Given the description of an element on the screen output the (x, y) to click on. 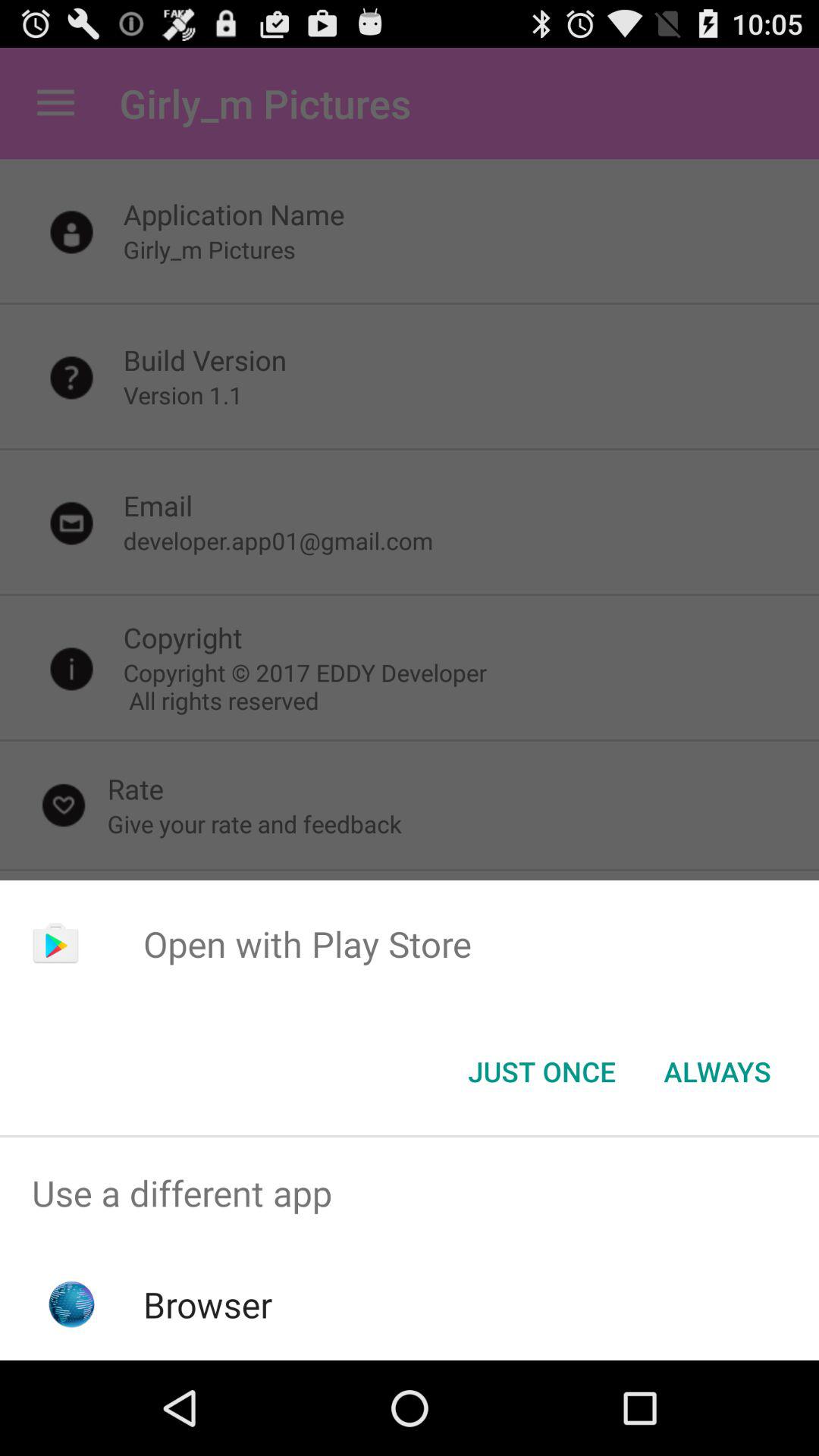
swipe until browser icon (207, 1304)
